Given the description of an element on the screen output the (x, y) to click on. 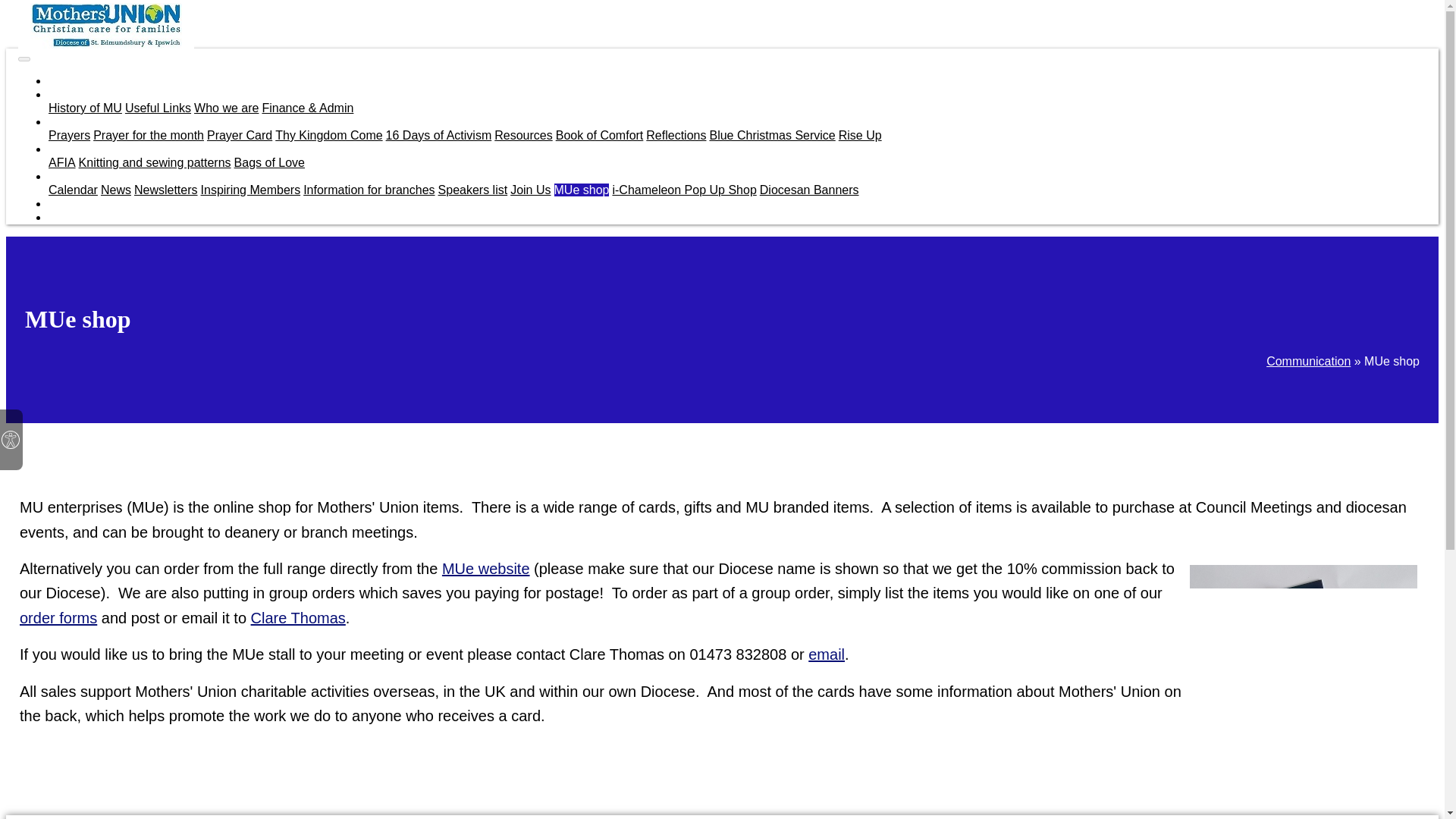
Reflections (676, 134)
Knitting and sewing patterns (154, 162)
Useful Links (157, 107)
Calendar (72, 189)
Book of Comfort (599, 134)
Who we are (226, 107)
Information for branches (367, 189)
Newsletters (165, 189)
History of MU (85, 107)
News (115, 189)
